Given the description of an element on the screen output the (x, y) to click on. 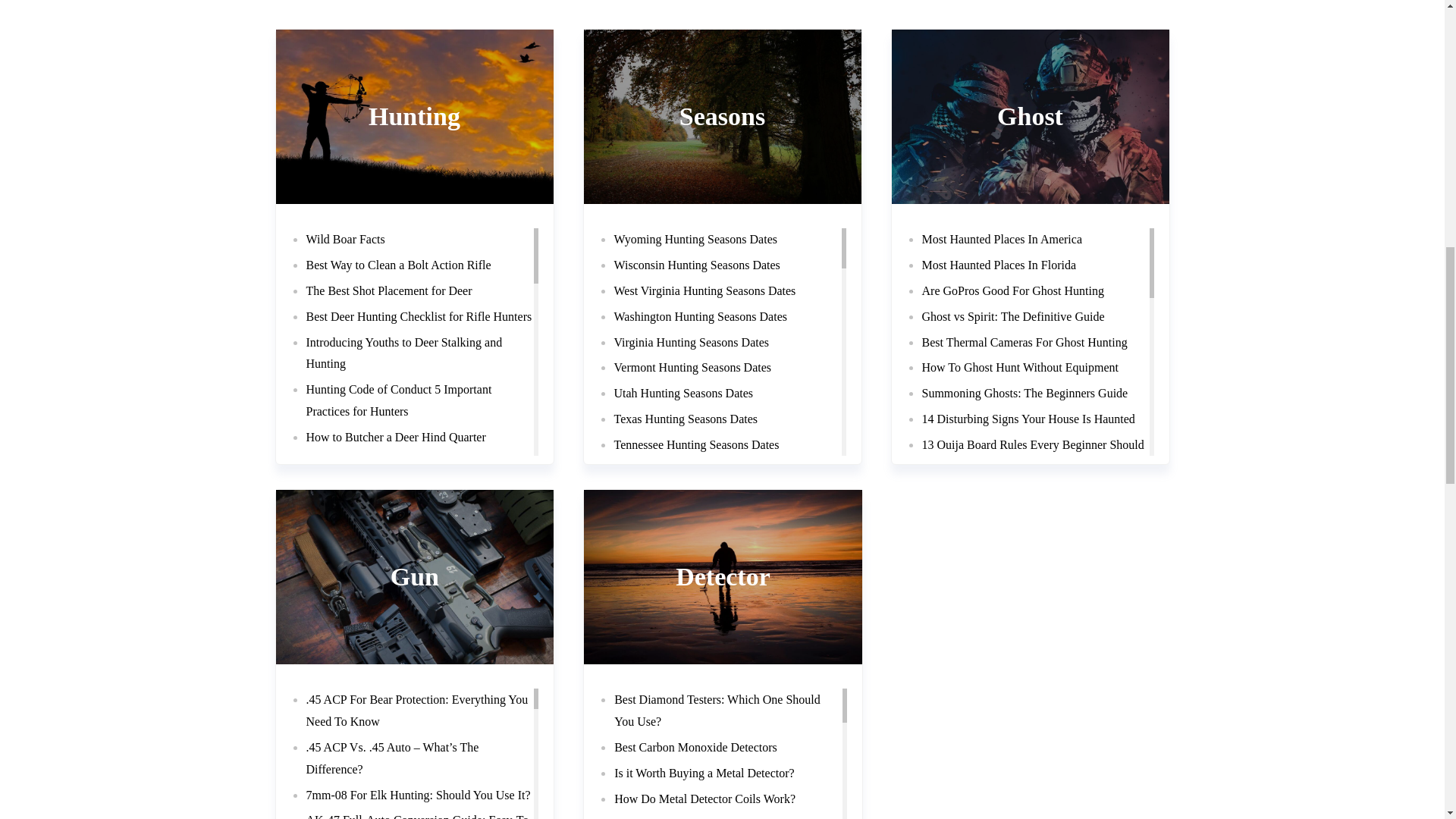
5 Of The Best Hunting Poems (378, 784)
How to Know the Best Place to Shoot a Hog (413, 809)
51 of the Best Hunting Quotes of All Time to Inspire You (415, 601)
Aging Deer on the Hoof Test (375, 564)
How to Butcher a Deer Hind Quarter (395, 436)
9 of the Best Deer Hunting Magazines to Read (418, 732)
11 of the Best Hunting Jokes to Make You Laugh (408, 696)
What Do Deer Like To Eat? Fruit? (389, 487)
11 Best States for Wild Hog Hunting in the U.S. (410, 648)
5 Mental Strength Exercises for Hunters (403, 758)
Best Way to Clean a Bolt Action Rifle (398, 264)
Deer Sounds Scent and Body Language (402, 513)
The Best Shot Placement for Deer (388, 290)
Wild Boar Facts (345, 238)
Best Deer Hunting Checklist for Rifle Hunters (418, 316)
